Given the description of an element on the screen output the (x, y) to click on. 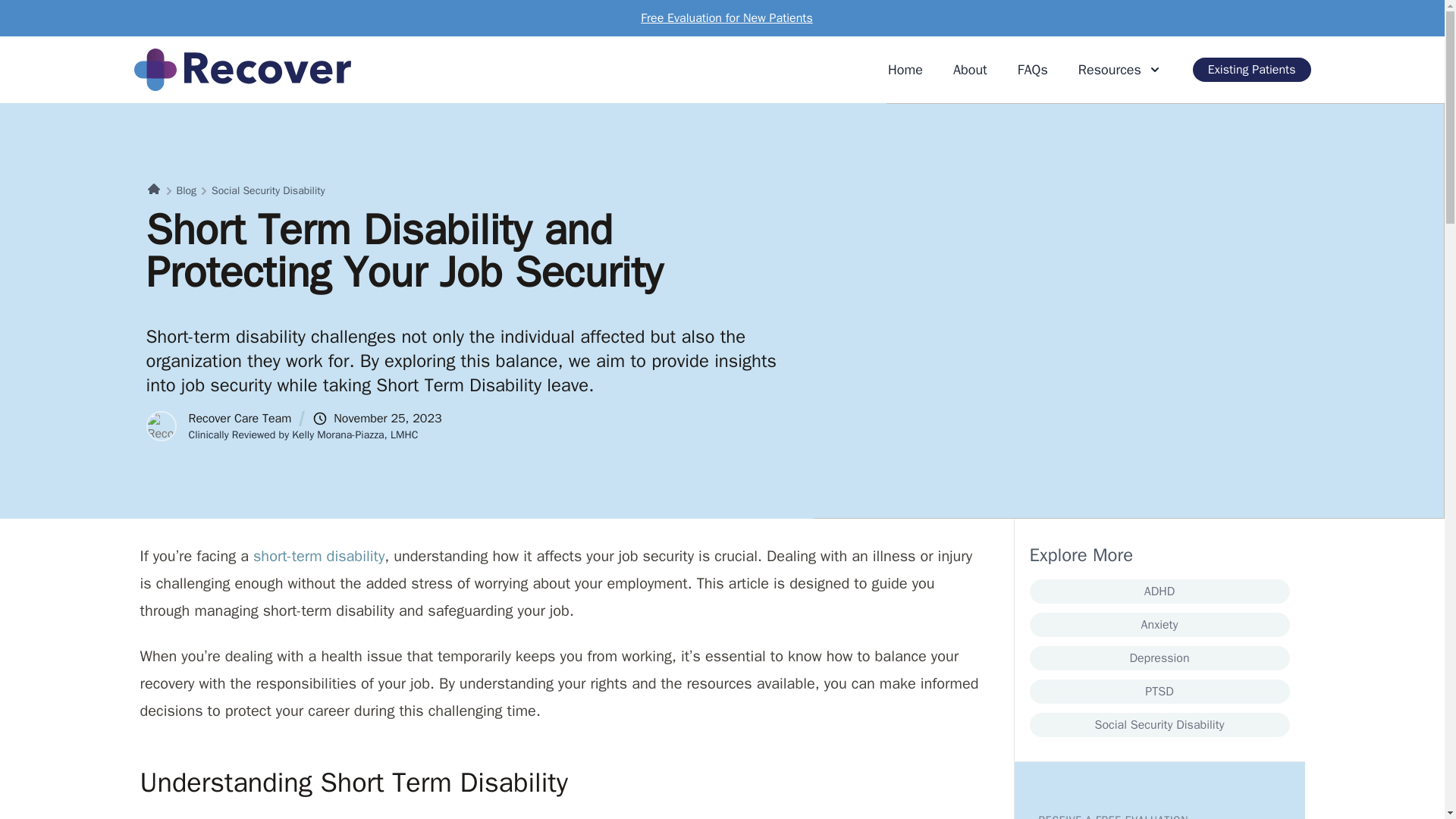
Existing Patients (1251, 69)
ADHD (1159, 591)
Anxiety (1159, 624)
FAQs (1032, 69)
Go to the Social Security Disability Category archives. (267, 190)
Go to Blog. (186, 190)
Home (905, 69)
About (970, 69)
PTSD (1159, 691)
Blog (186, 190)
